Given the description of an element on the screen output the (x, y) to click on. 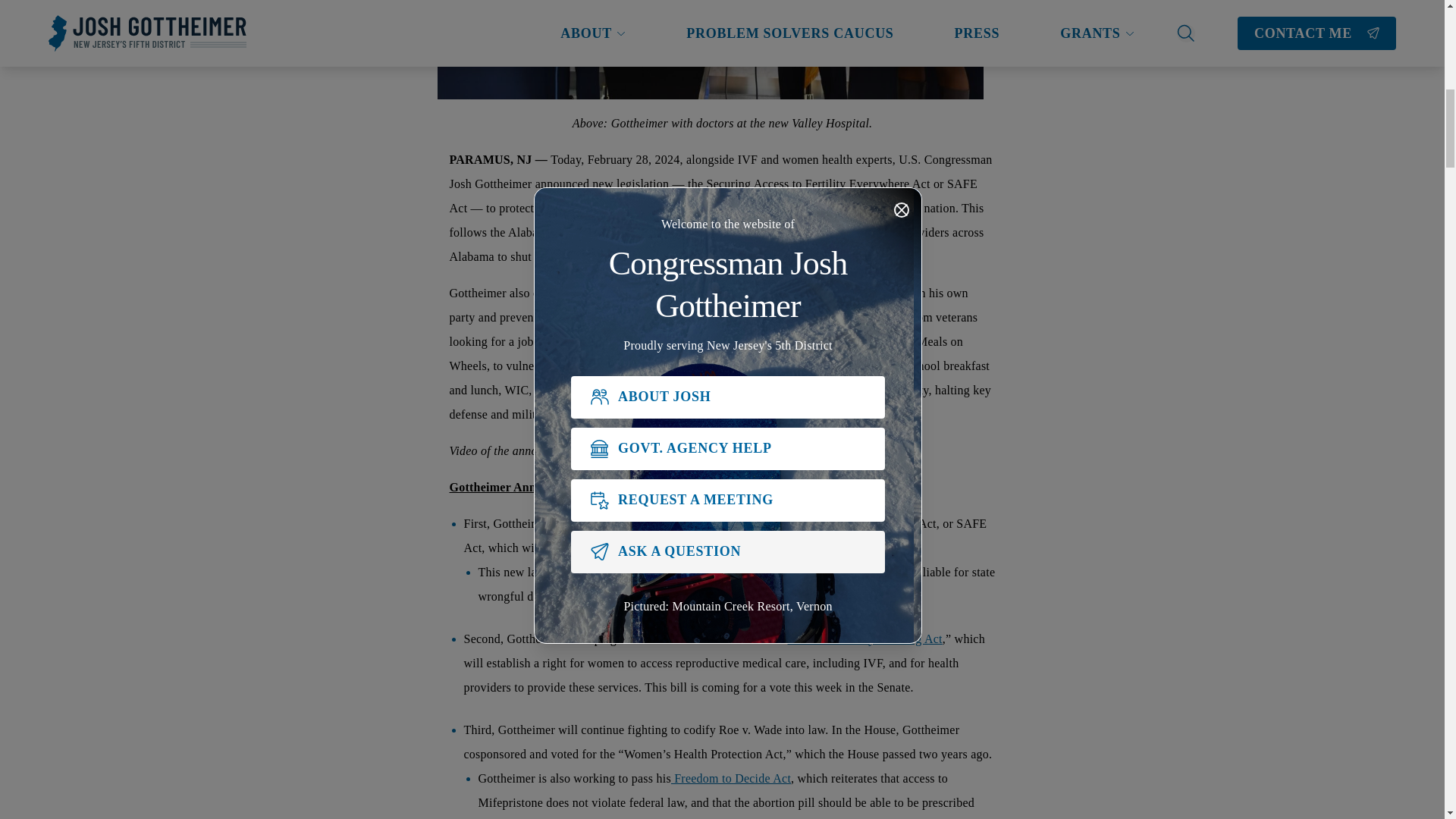
ruling (649, 232)
 Freedom to Decide Act (730, 778)
here (667, 450)
Access to Family Building Act (864, 638)
